Given the description of an element on the screen output the (x, y) to click on. 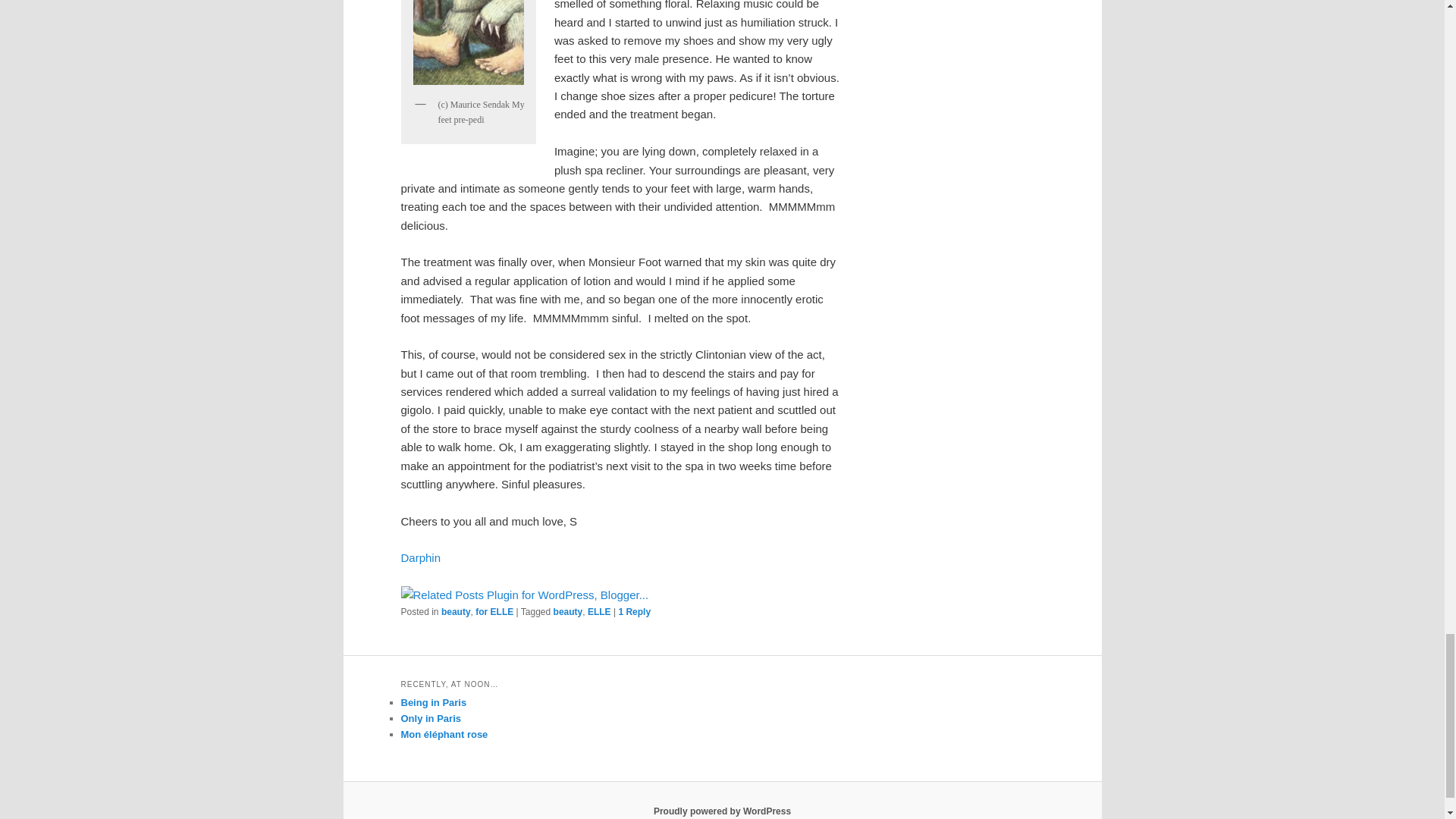
for ELLE (494, 611)
beauty (568, 611)
ELLE (599, 611)
Where the Wild Things Are (468, 45)
Darphin (420, 557)
1 Reply (633, 611)
beauty (455, 611)
